Given the description of an element on the screen output the (x, y) to click on. 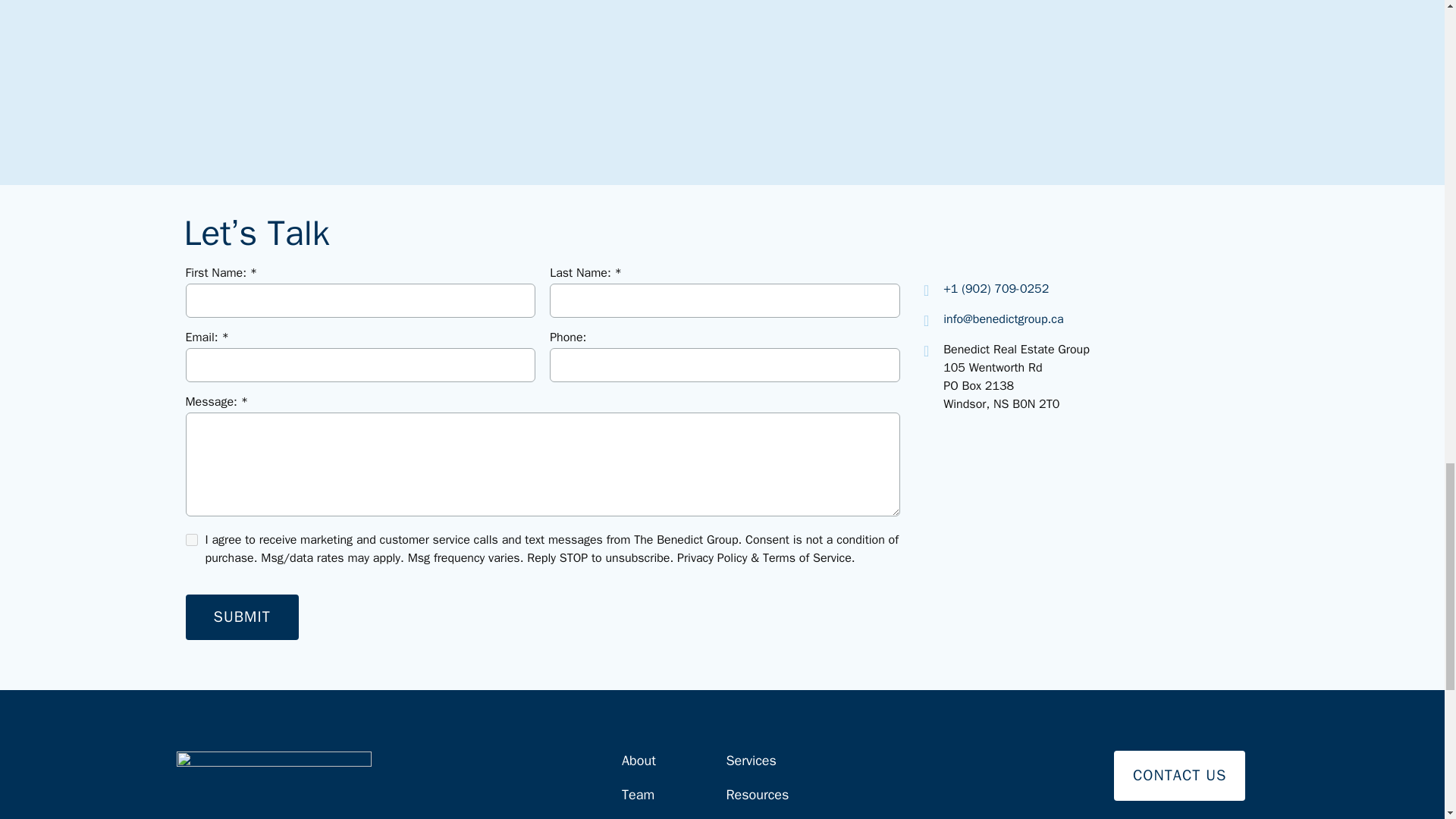
CONTACT US (1179, 775)
0252 (1034, 288)
Resources (757, 801)
About (654, 767)
Team (654, 801)
Services (757, 767)
SUBMIT (241, 616)
